Given the description of an element on the screen output the (x, y) to click on. 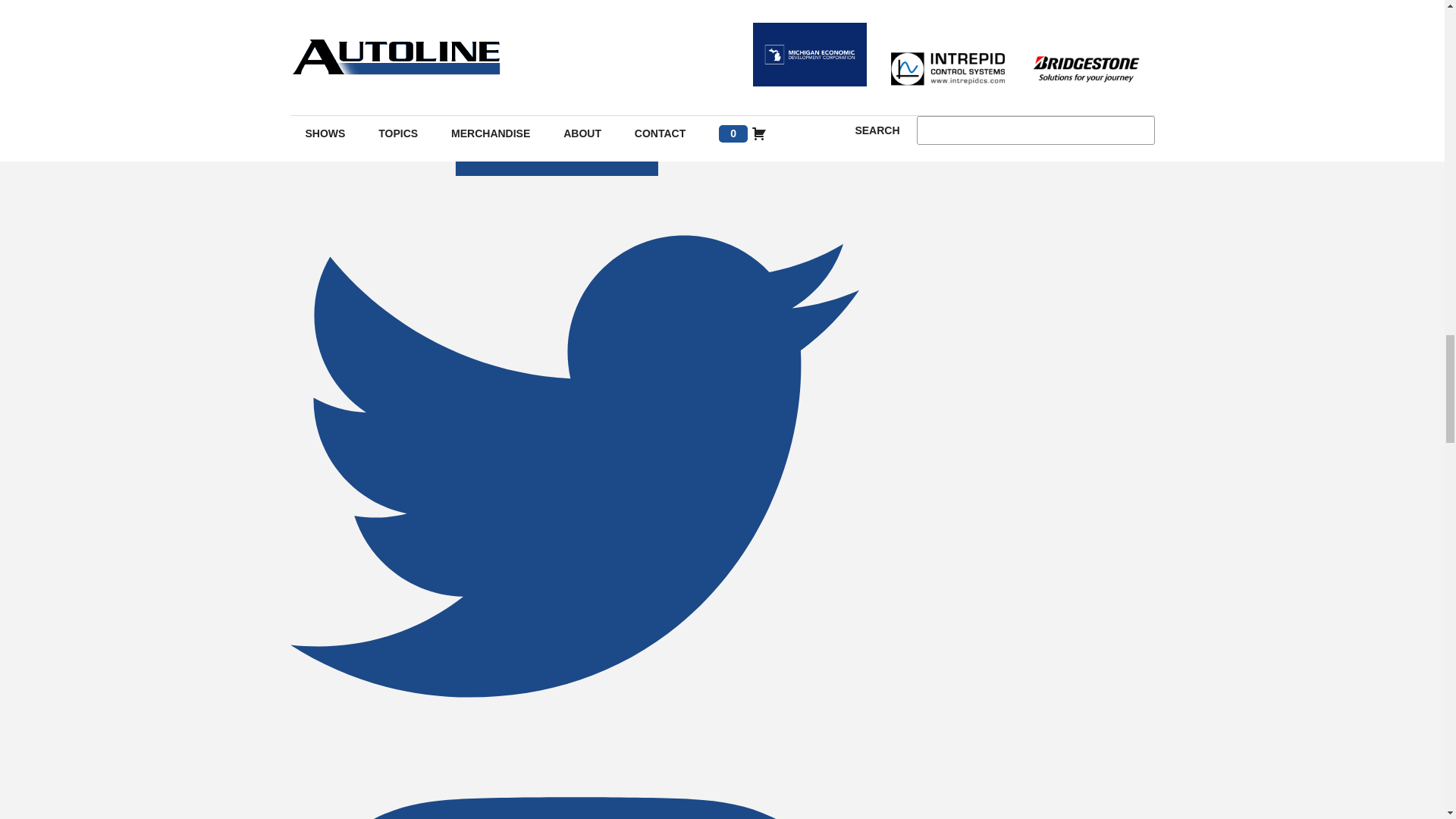
Twitter (574, 746)
Facebook (574, 171)
